Given the description of an element on the screen output the (x, y) to click on. 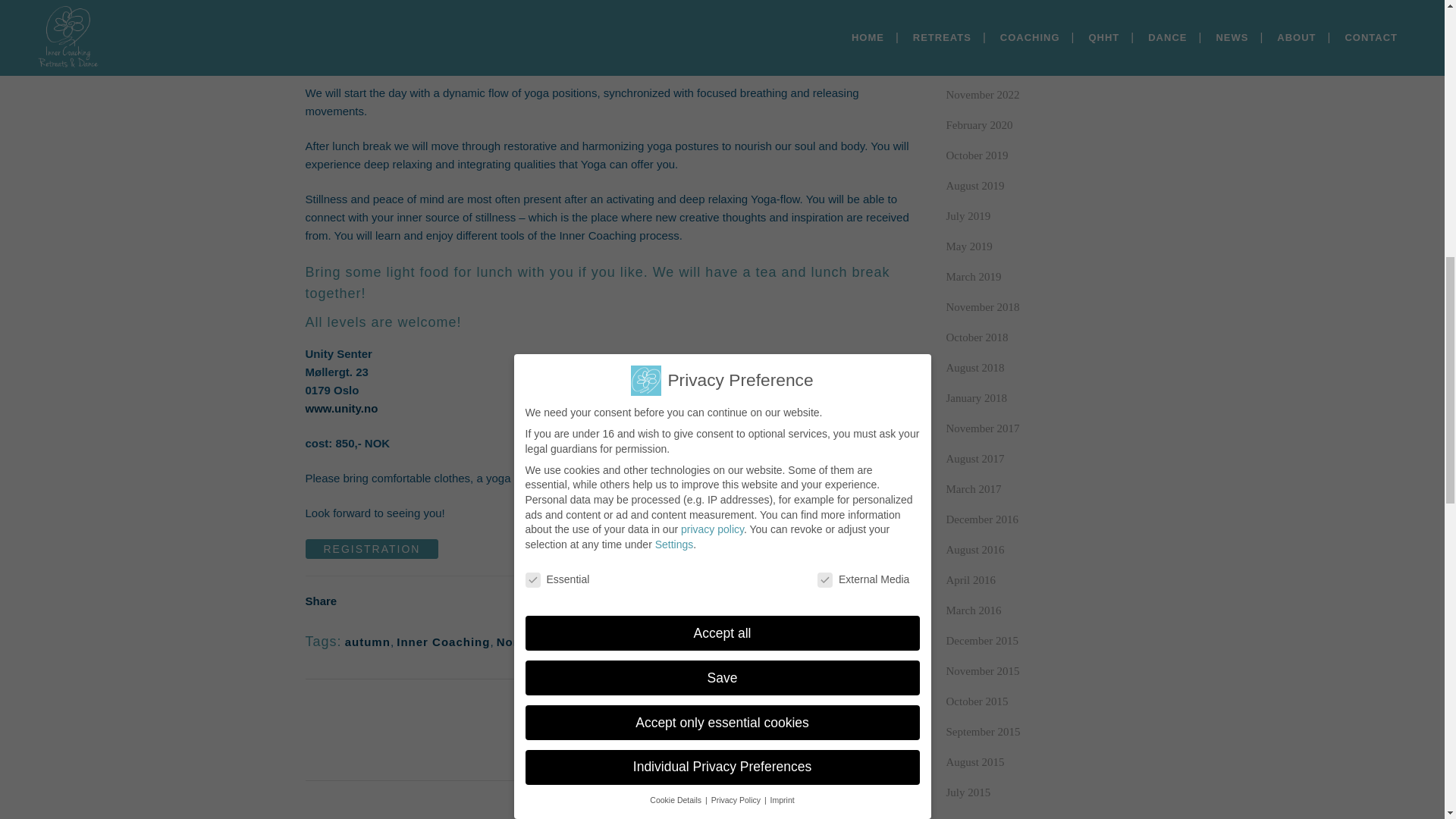
Workshop (673, 641)
Yoga (725, 641)
www.unity.no (340, 408)
wellness (610, 641)
Oslo (562, 641)
Inner Coaching (442, 641)
Share (320, 600)
Norway (518, 641)
Share (566, 727)
autumn (367, 641)
REGISTRATION (371, 548)
